Given the description of an element on the screen output the (x, y) to click on. 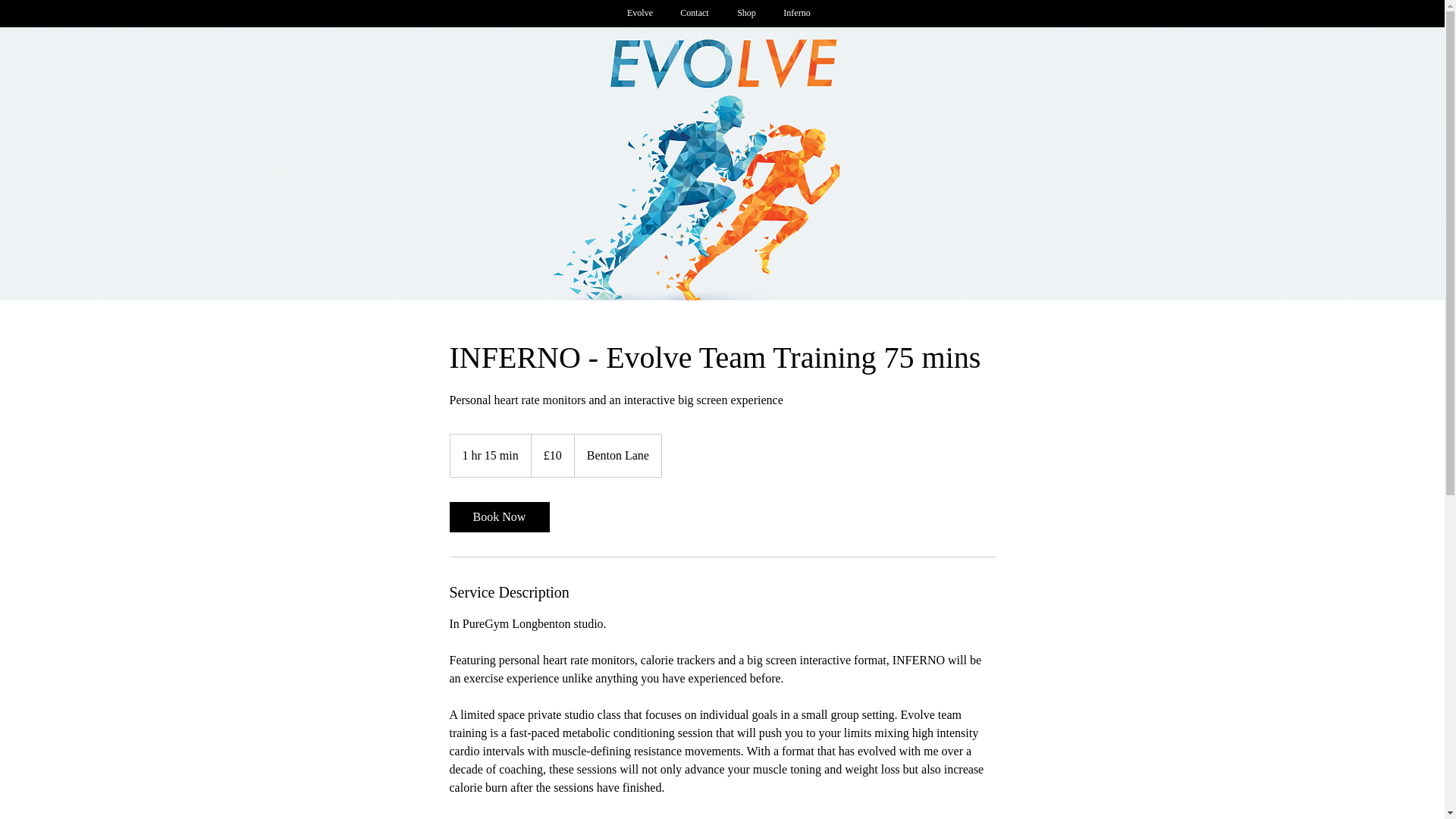
Contact (694, 13)
Evolve (639, 13)
Shop (746, 13)
Inferno (797, 13)
Book Now (498, 517)
